Given the description of an element on the screen output the (x, y) to click on. 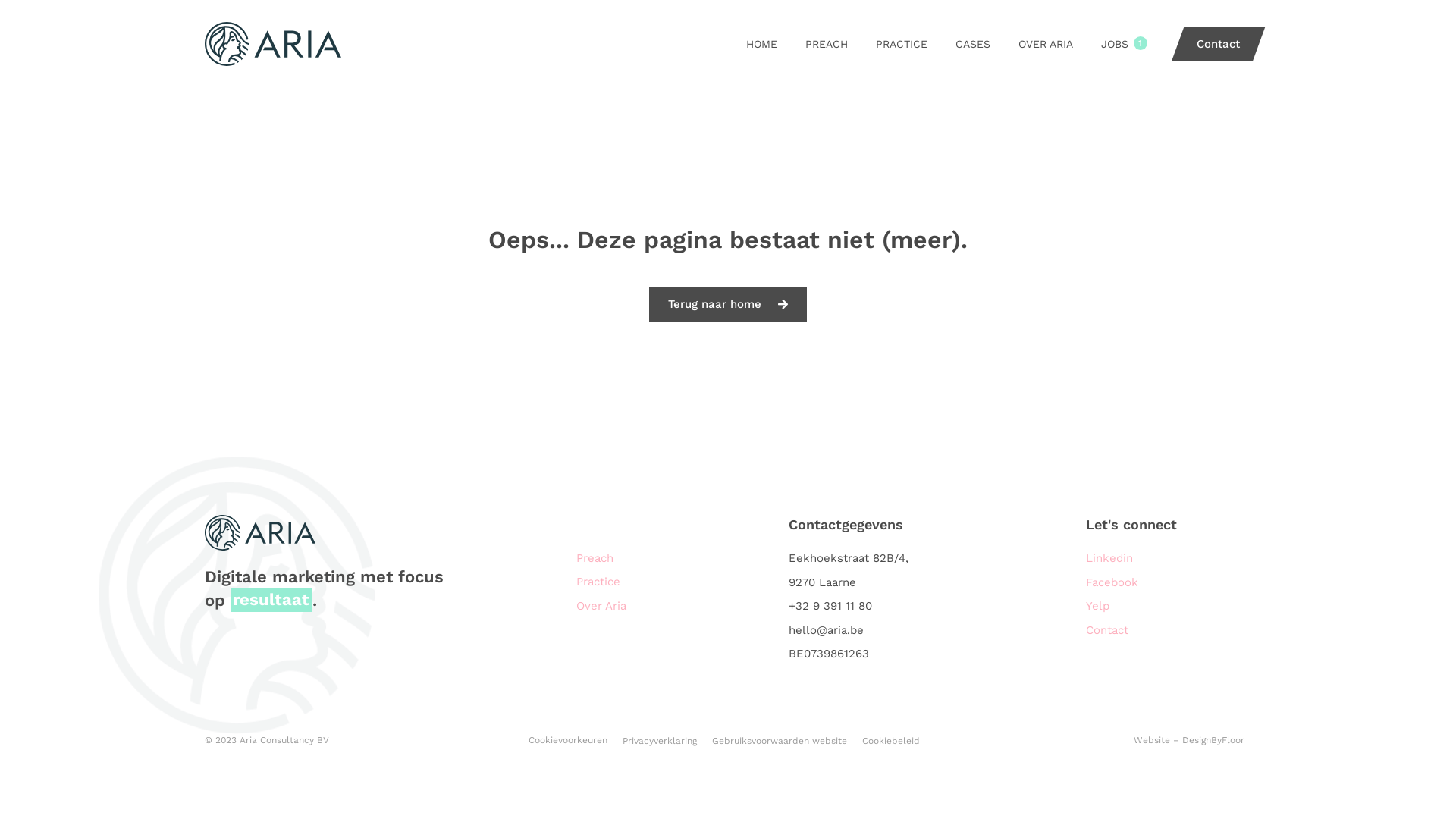
Facebook Element type: text (1159, 583)
+32 9 391 11 80 Element type: text (886, 606)
9270 Laarne Element type: text (886, 583)
Practice Element type: text (674, 582)
PREACH Element type: text (826, 43)
Yelp Element type: text (1159, 606)
JOBS Element type: text (1114, 43)
CASES Element type: text (972, 43)
Cookiebeleid Element type: text (890, 740)
Contact Element type: text (1211, 44)
Eekhoekstraat 82B/4, Element type: text (886, 558)
HOME Element type: text (761, 43)
hello@aria.be Element type: text (886, 630)
OVER ARIA Element type: text (1045, 43)
Privacyverklaring Element type: text (659, 740)
Contact Element type: text (1159, 630)
Preach Element type: text (674, 558)
1 Element type: text (1140, 43)
Over Aria Element type: text (674, 606)
PRACTICE Element type: text (901, 43)
Terug naar home Element type: text (727, 304)
Cookievoorkeuren Element type: text (567, 739)
Gebruiksvoorwaarden website Element type: text (779, 740)
Linkedin Element type: text (1159, 558)
